Given the description of an element on the screen output the (x, y) to click on. 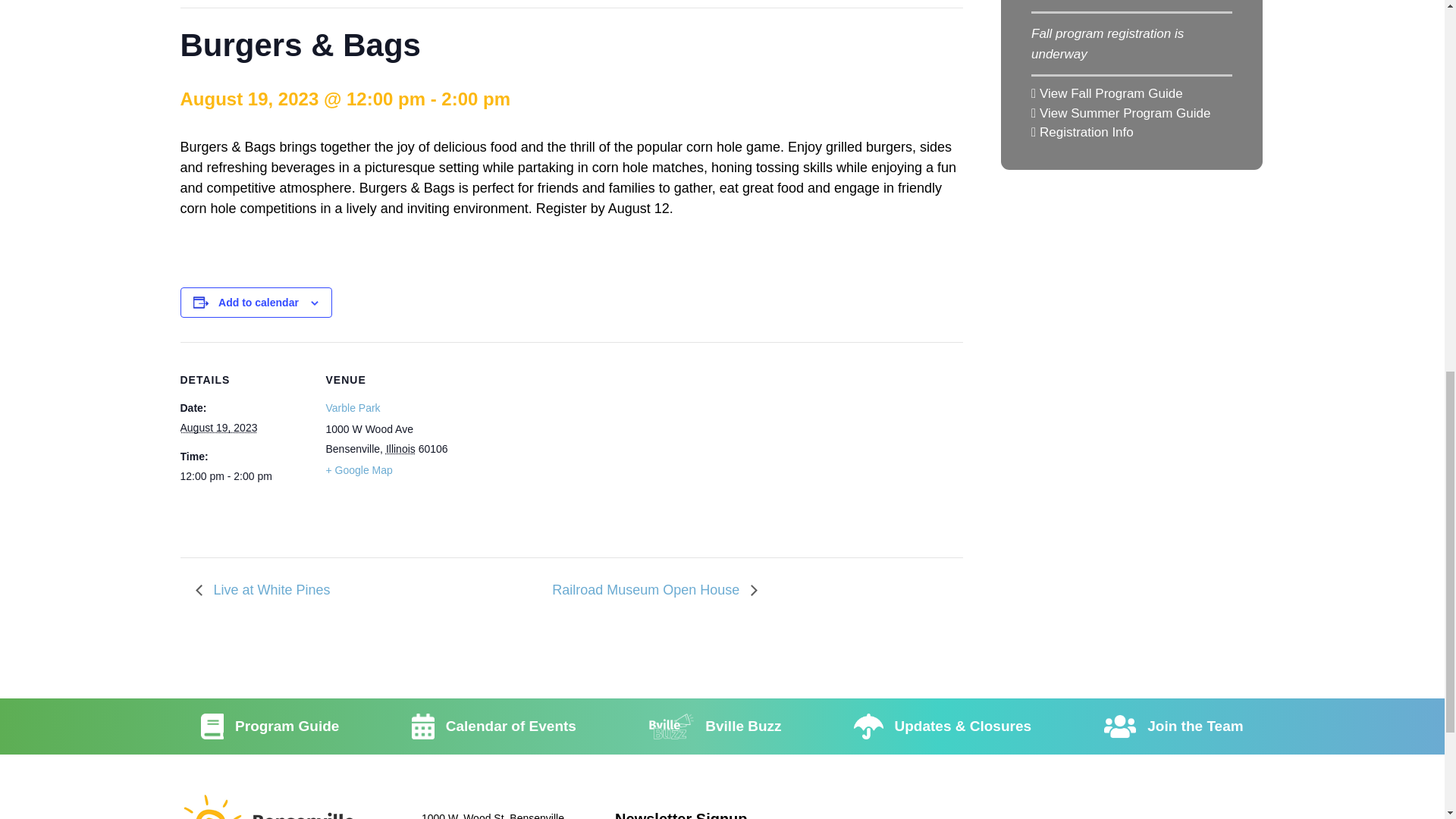
2023-08-19 (243, 476)
2023-08-19 (218, 427)
Illinois (399, 449)
Click to view a Google Map (359, 469)
